Given the description of an element on the screen output the (x, y) to click on. 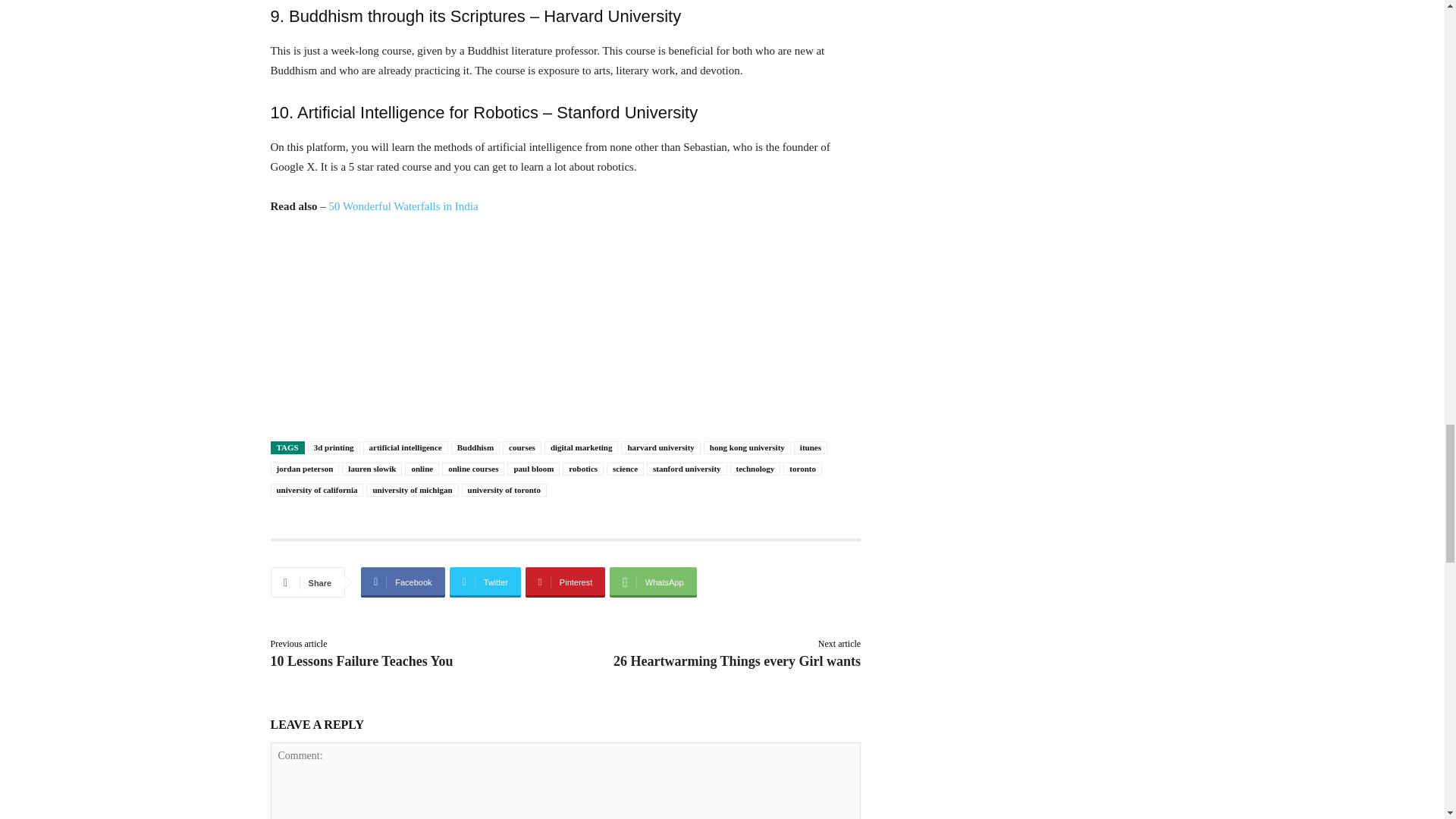
artificial intelligence (405, 447)
Buddhism (475, 447)
50 Wonderful Waterfalls in India (404, 205)
3d printing (333, 447)
